Given the description of an element on the screen output the (x, y) to click on. 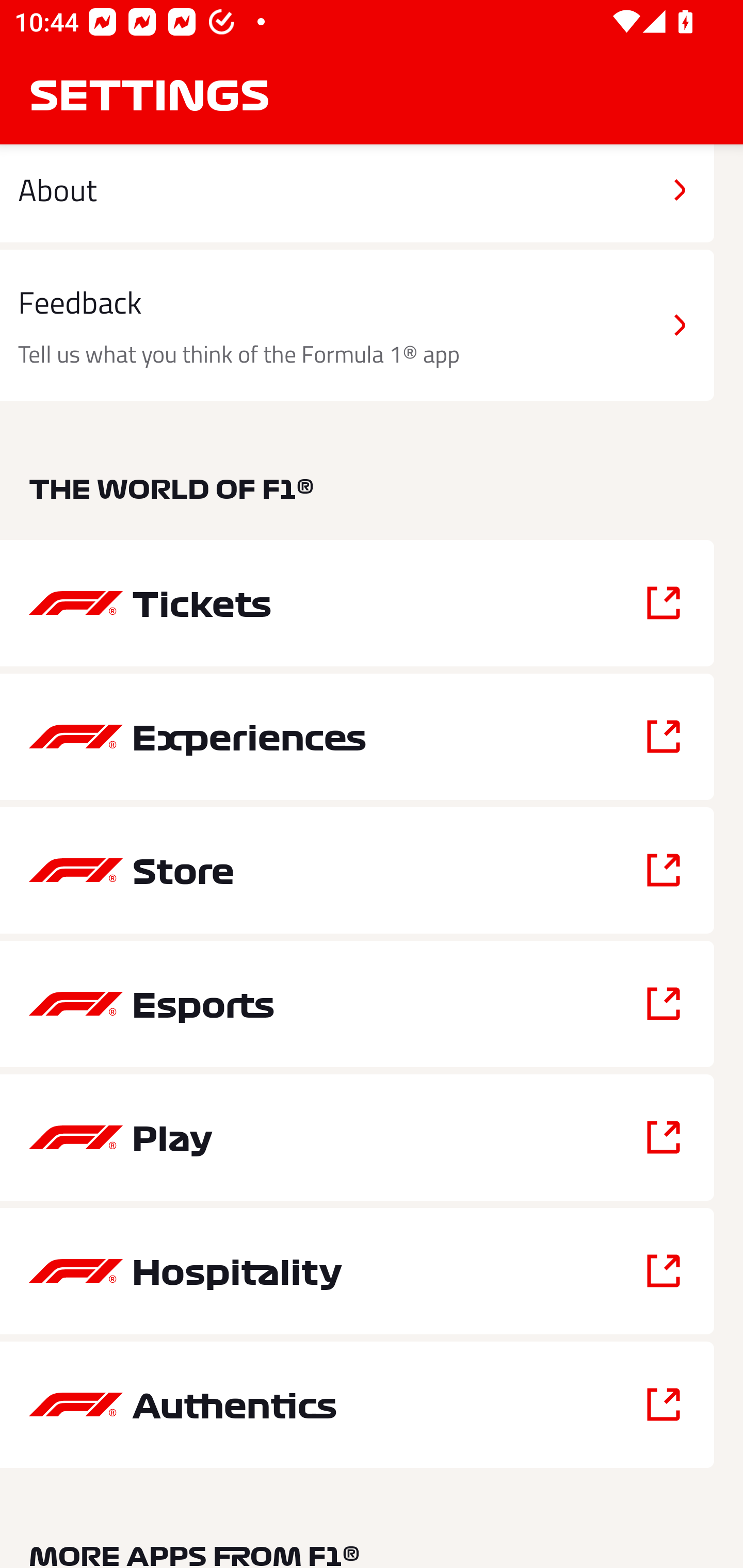
About (357, 193)
Tickets (357, 602)
Experiences (357, 736)
Store (357, 869)
Esports (357, 1003)
Play (357, 1137)
Hospitality (357, 1270)
Authentics (357, 1404)
